Given the description of an element on the screen output the (x, y) to click on. 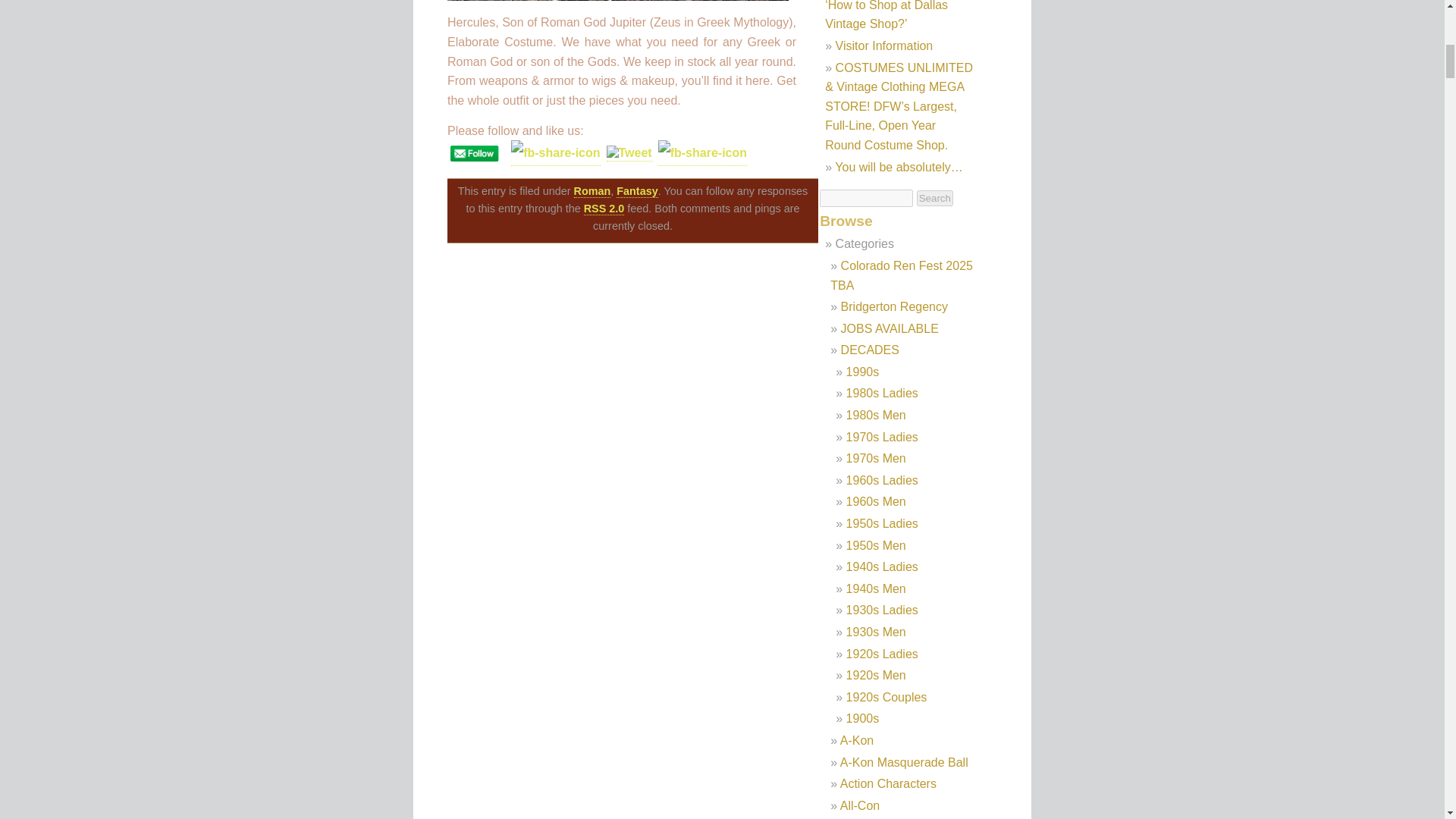
Search (935, 198)
Visitor Information (884, 45)
Colorado Ren Fest 2025 TBA (900, 275)
Roman (591, 191)
RSS 2.0 (603, 208)
Search (935, 198)
Fantasy (636, 191)
